Given the description of an element on the screen output the (x, y) to click on. 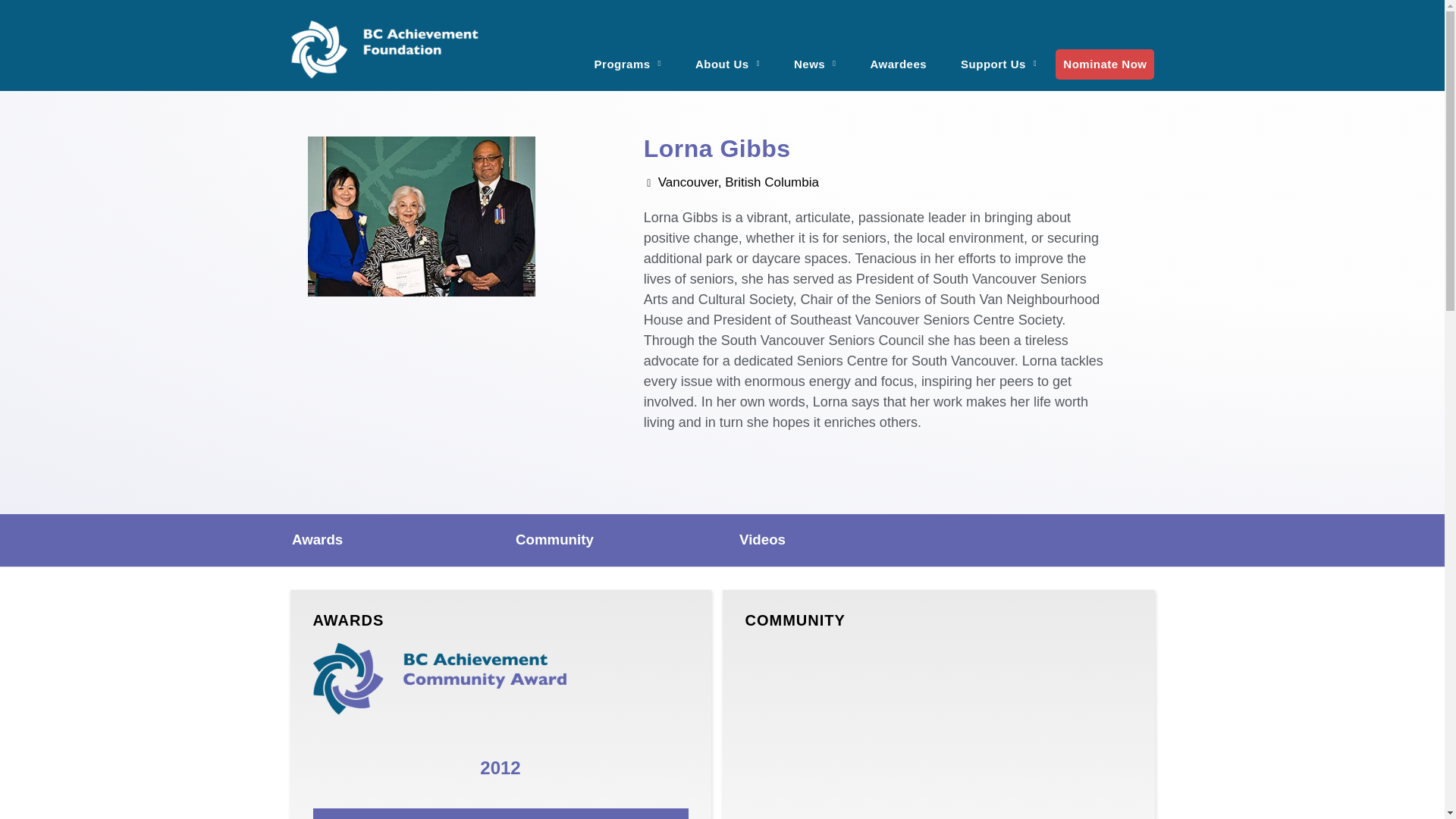
Support Us (997, 54)
Vancouver (937, 730)
Awardees (899, 54)
About Us (726, 54)
News (814, 54)
Nominate Now (1104, 63)
Programs (628, 54)
